Given the description of an element on the screen output the (x, y) to click on. 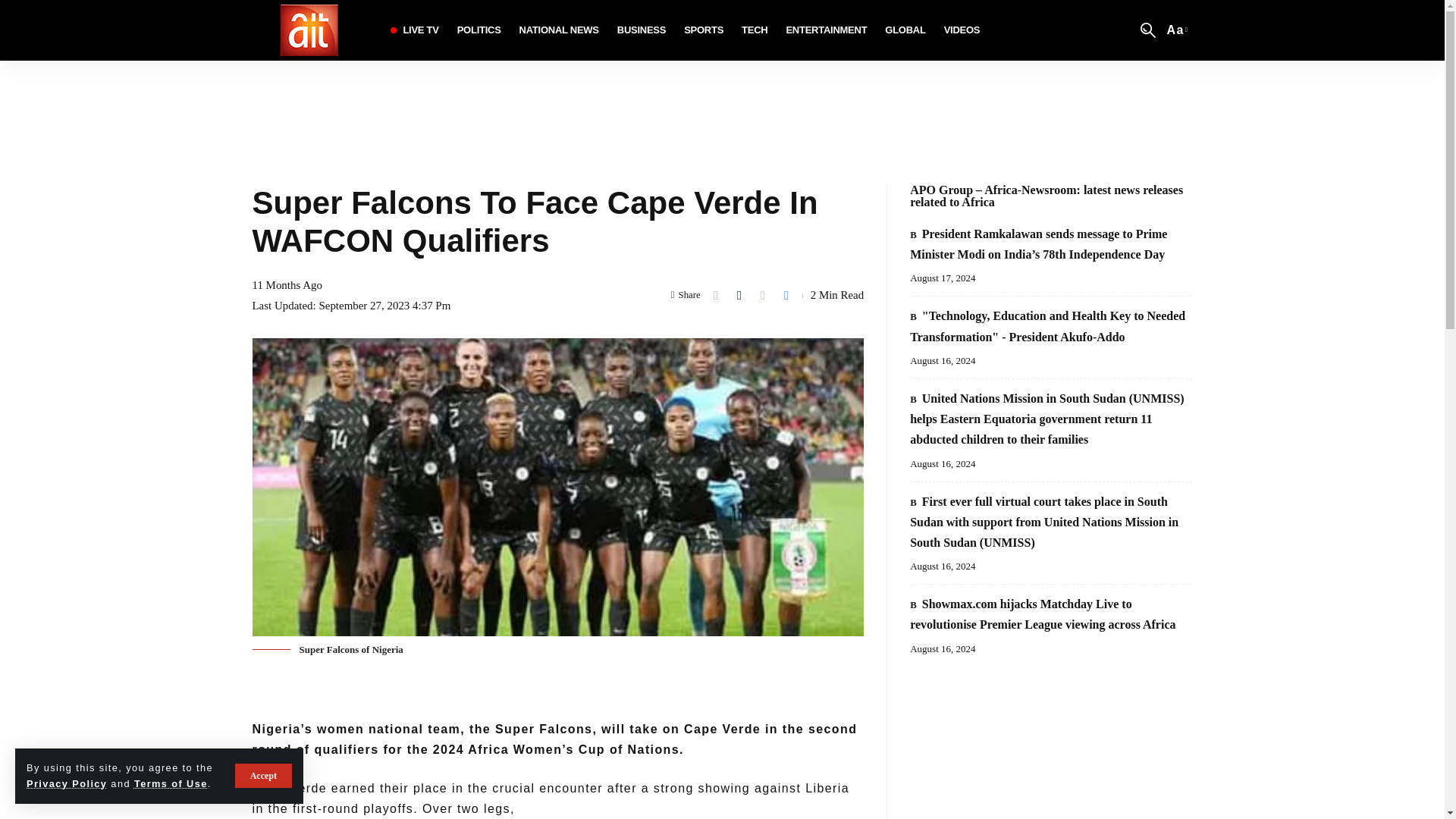
VIDEOS (962, 30)
Terms of Use (1176, 29)
AIT LIVE (170, 783)
ENTERTAINMENT (308, 30)
GLOBAL (826, 30)
NATIONAL NEWS (905, 30)
POLITICS (559, 30)
SPORTS (479, 30)
Advertisement (703, 30)
